Given the description of an element on the screen output the (x, y) to click on. 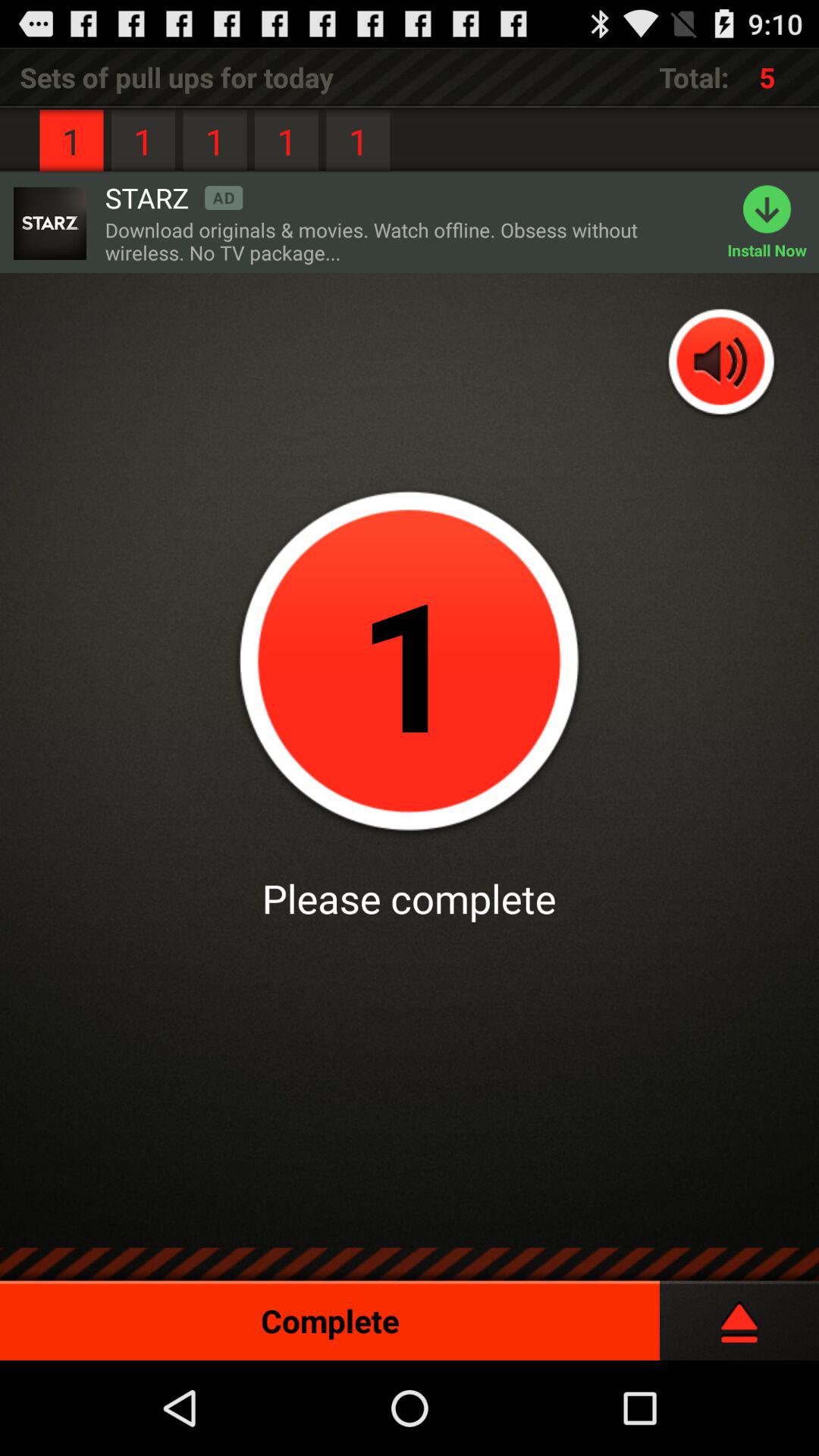
press starz icon (173, 197)
